Given the description of an element on the screen output the (x, y) to click on. 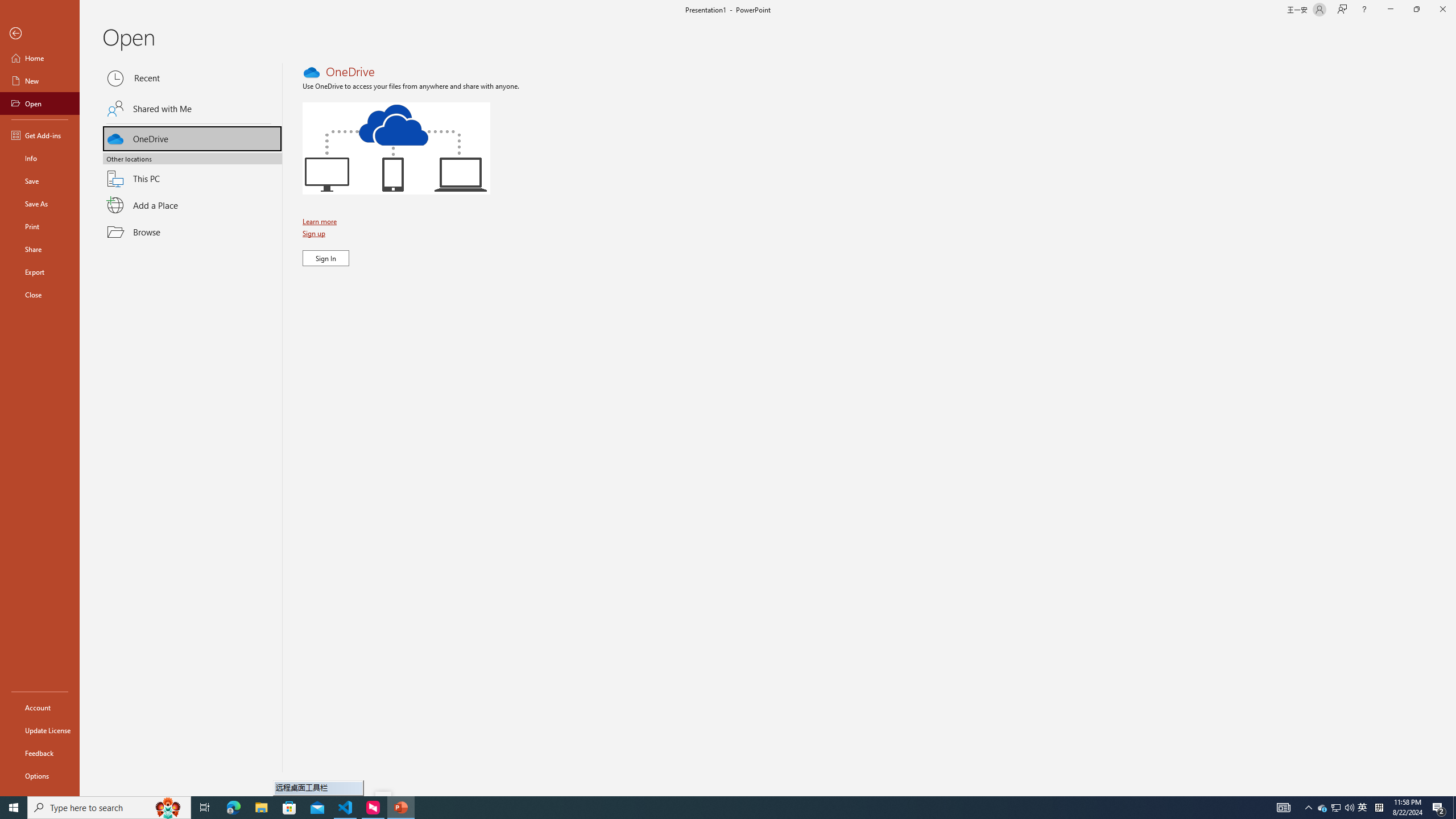
Add a Place (192, 204)
Get Add-ins (40, 134)
OneDrive (192, 136)
